Given the description of an element on the screen output the (x, y) to click on. 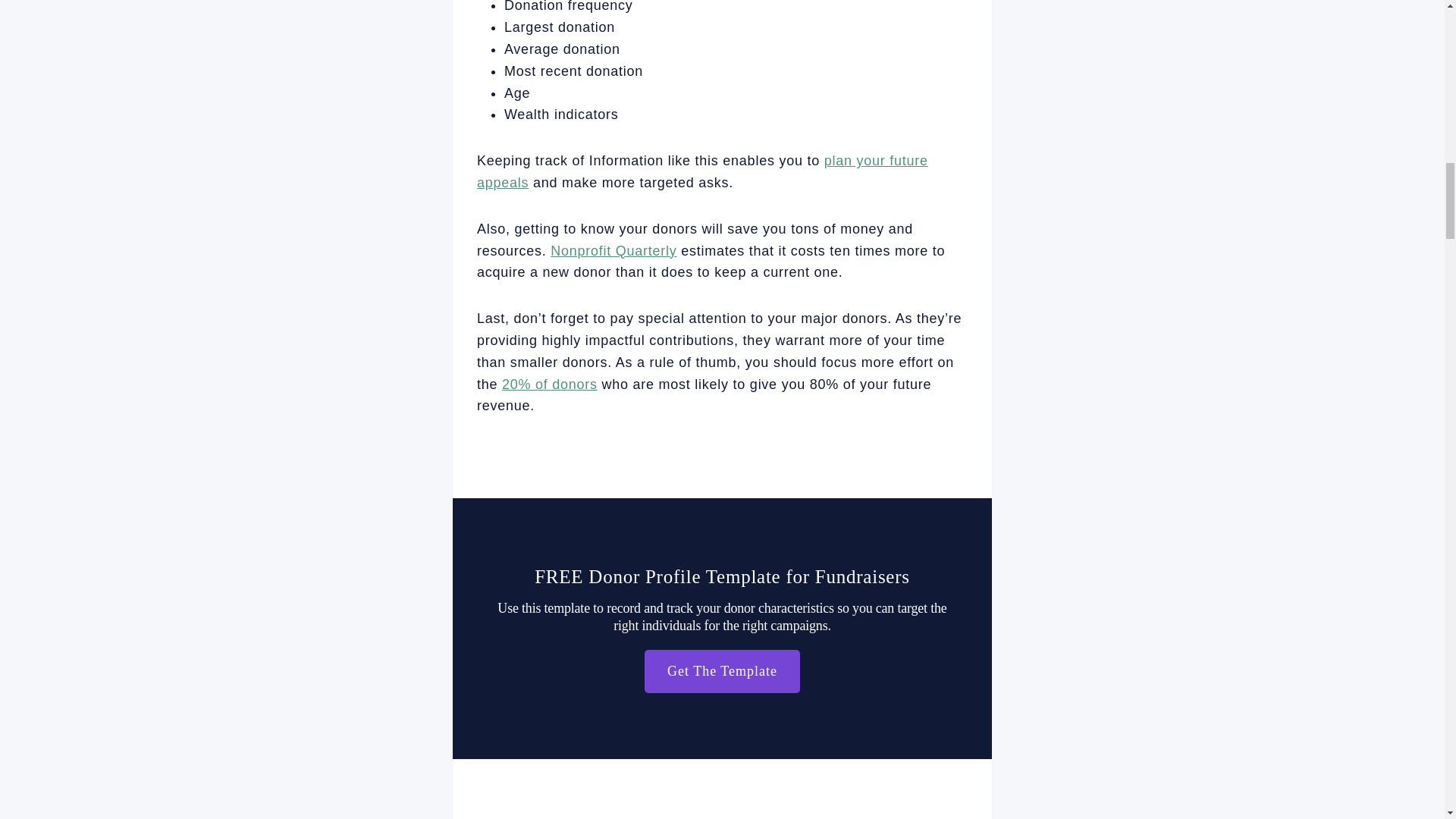
Get The Template (722, 671)
plan your future appeals (702, 171)
Nonprofit Quarterly (613, 250)
